Given the description of an element on the screen output the (x, y) to click on. 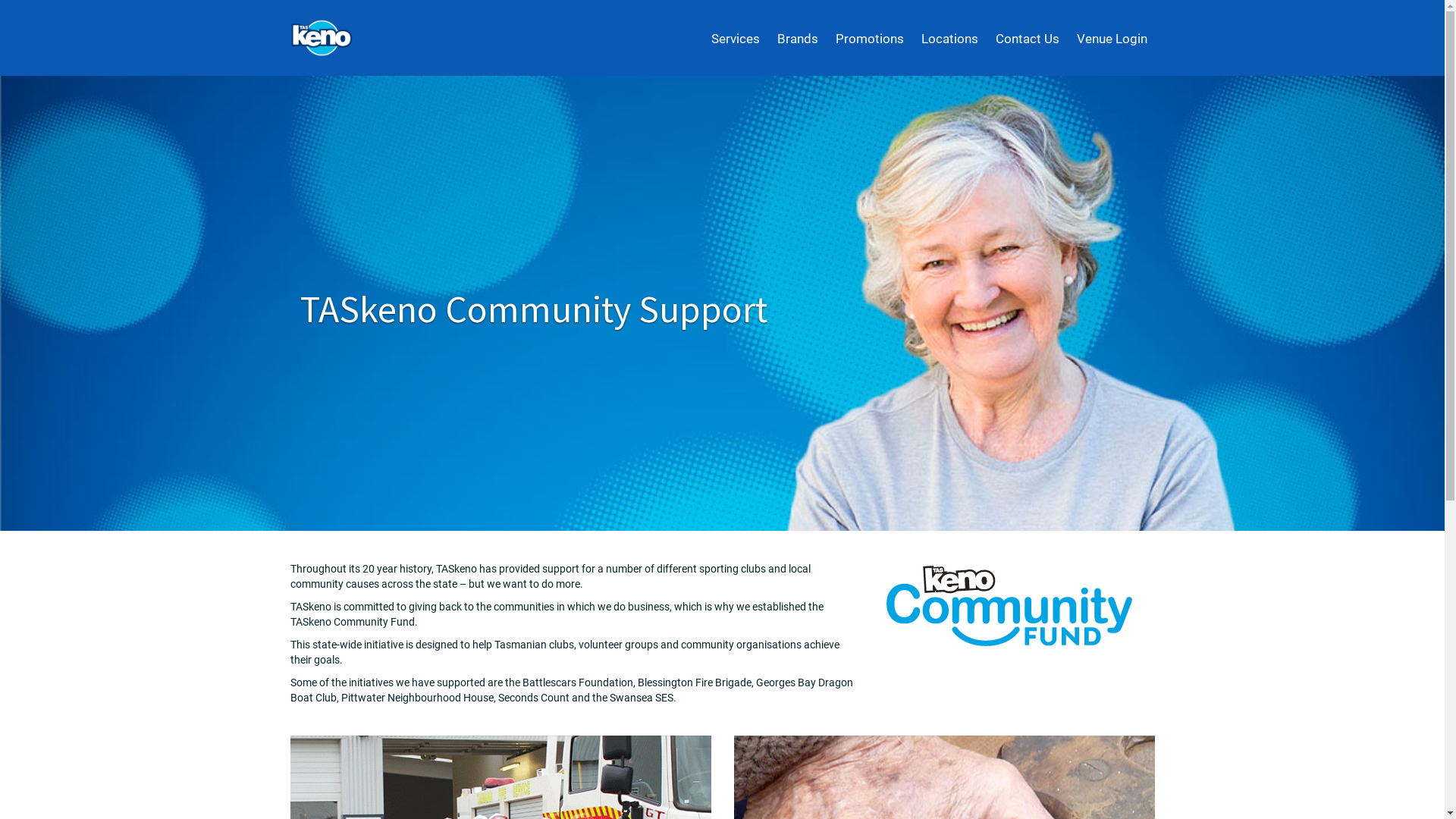
Services Element type: text (735, 39)
Locations Element type: text (949, 39)
Promotions Element type: text (869, 39)
Brands Element type: text (796, 39)
Venue Login Element type: text (1111, 39)
TASkeno Element type: hover (321, 37)
Contact Us Element type: text (1026, 39)
